Given the description of an element on the screen output the (x, y) to click on. 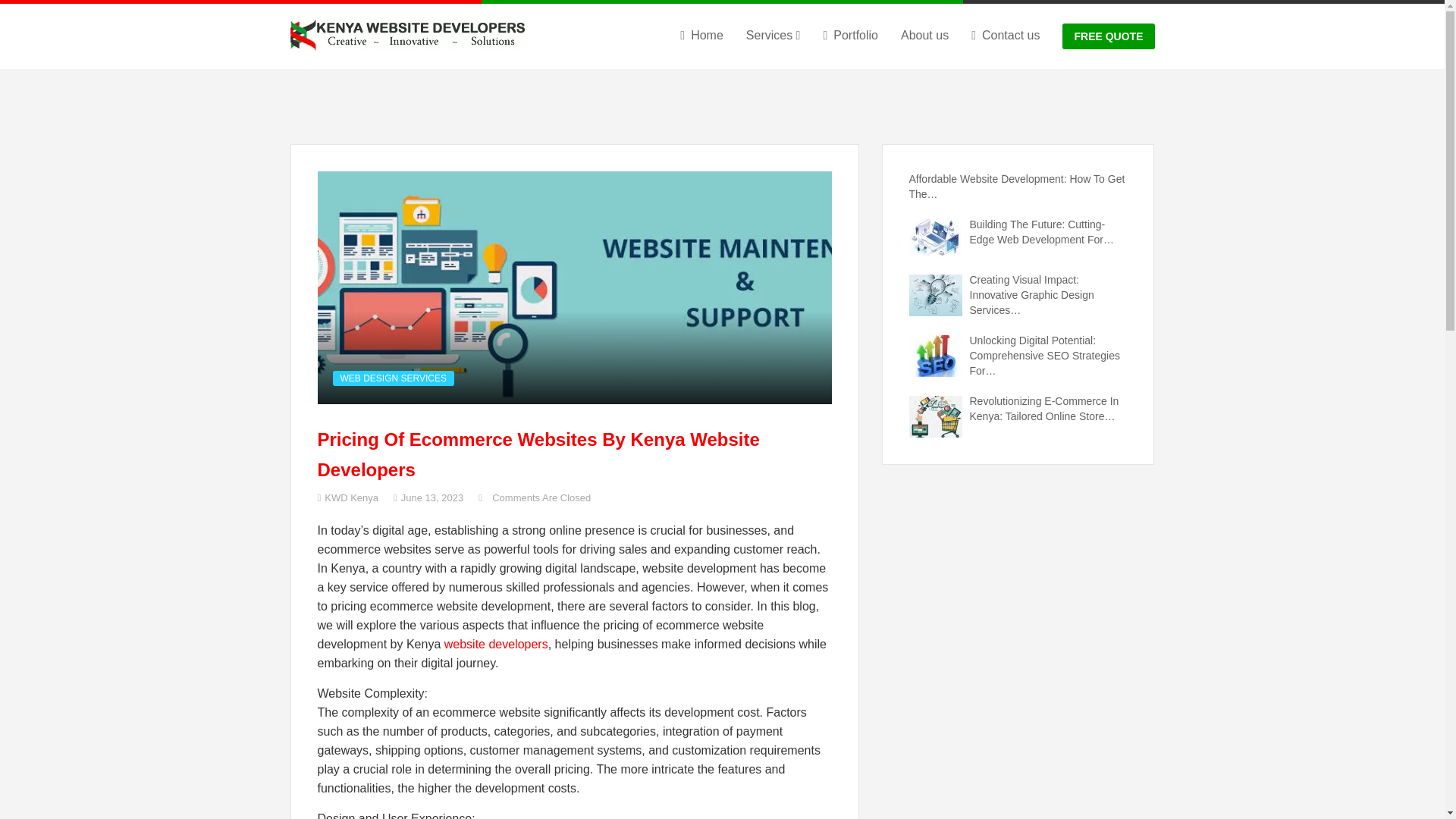
FREE QUOTE (1108, 36)
Home (701, 35)
website developers (496, 644)
Home (701, 35)
Contact us (1005, 35)
Kenya Website Developers (406, 35)
Services (772, 35)
Contact us (1005, 35)
KWD Kenya (347, 497)
Portfolio (849, 35)
Services (772, 35)
About us (925, 35)
About us (925, 35)
WEB DESIGN SERVICES (391, 378)
Portfolio (849, 35)
